Given the description of an element on the screen output the (x, y) to click on. 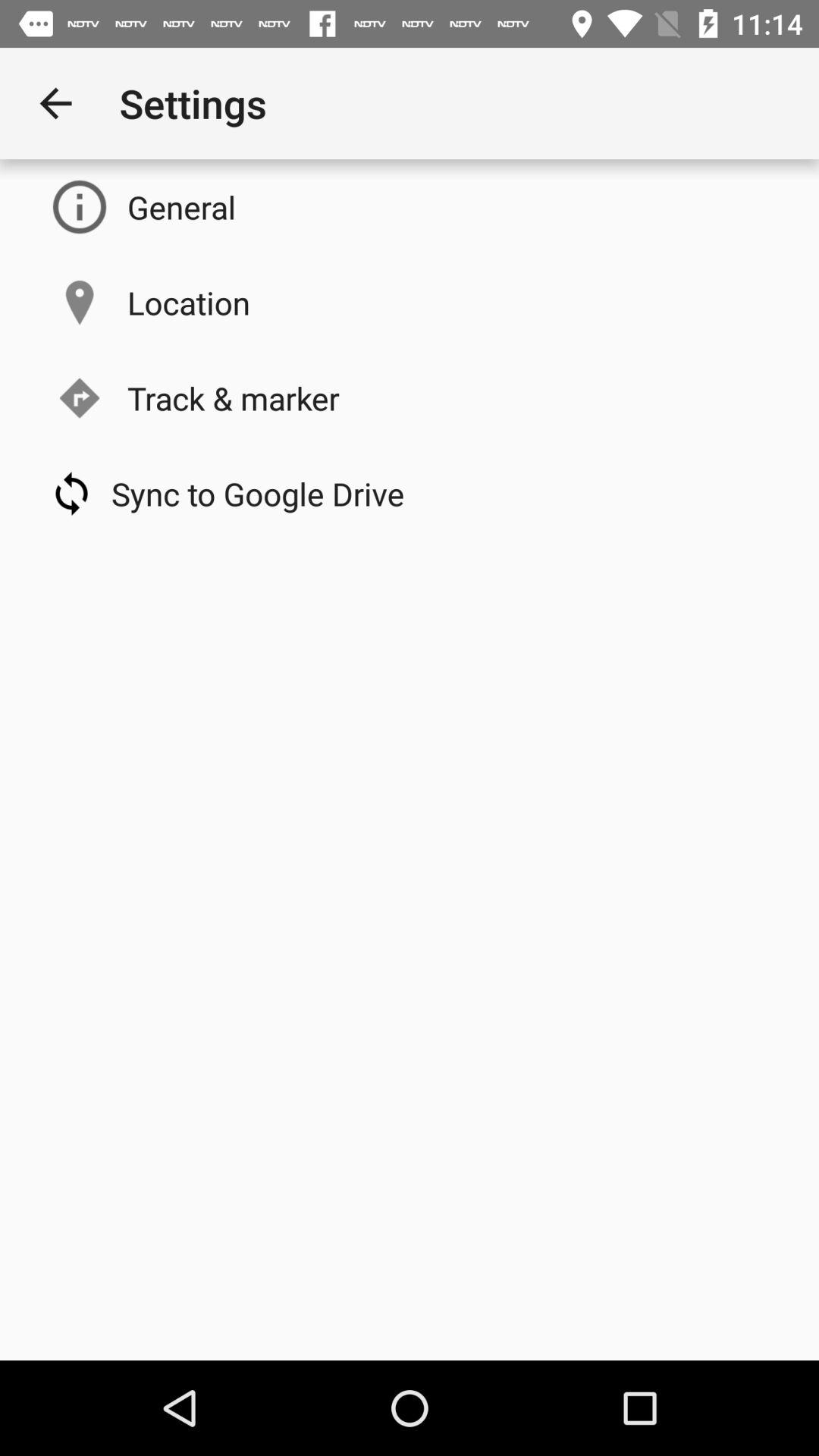
click the general icon (181, 206)
